Given the description of an element on the screen output the (x, y) to click on. 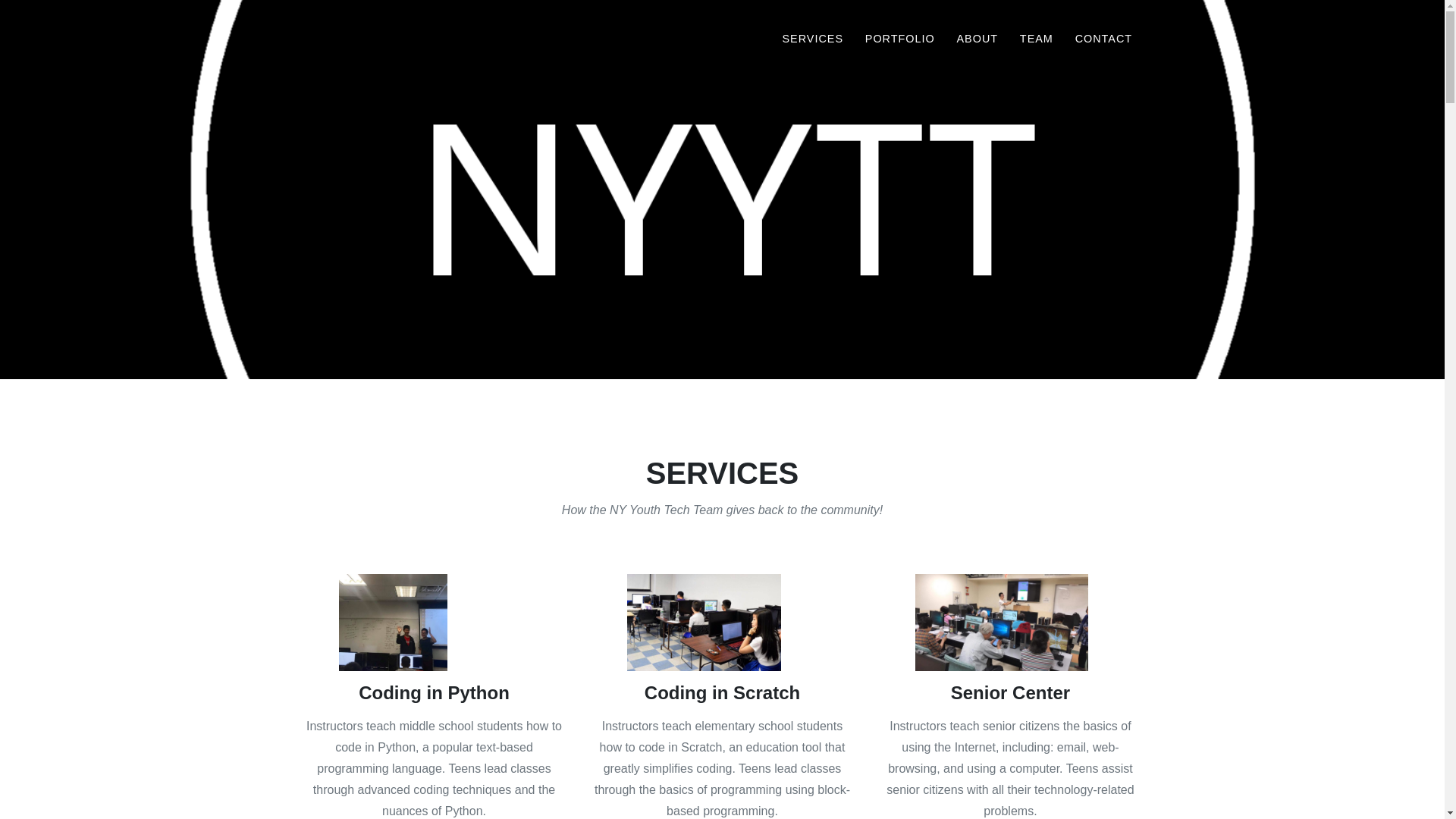
ABOUT (976, 38)
ABOUT (976, 38)
TEAM (1036, 38)
PORTFOLIO (898, 38)
PORTFOLIO (898, 38)
SERVICES (812, 38)
SERVICES (812, 38)
CONTACT (1103, 38)
CONTACT (1103, 38)
TEAM (1036, 38)
